Given the description of an element on the screen output the (x, y) to click on. 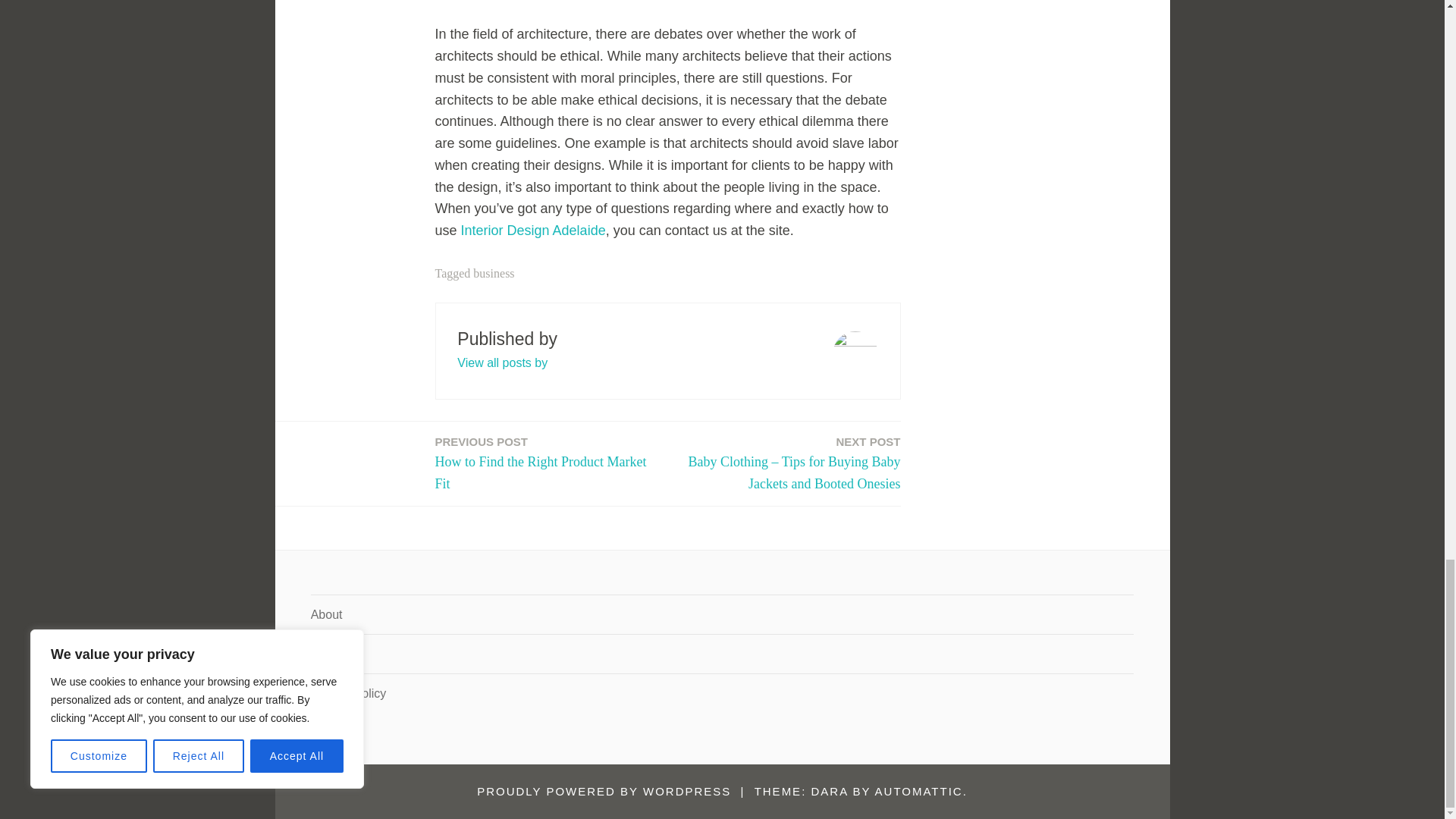
business (493, 273)
View all posts by (502, 362)
Interior Design Adelaide (547, 464)
